Given the description of an element on the screen output the (x, y) to click on. 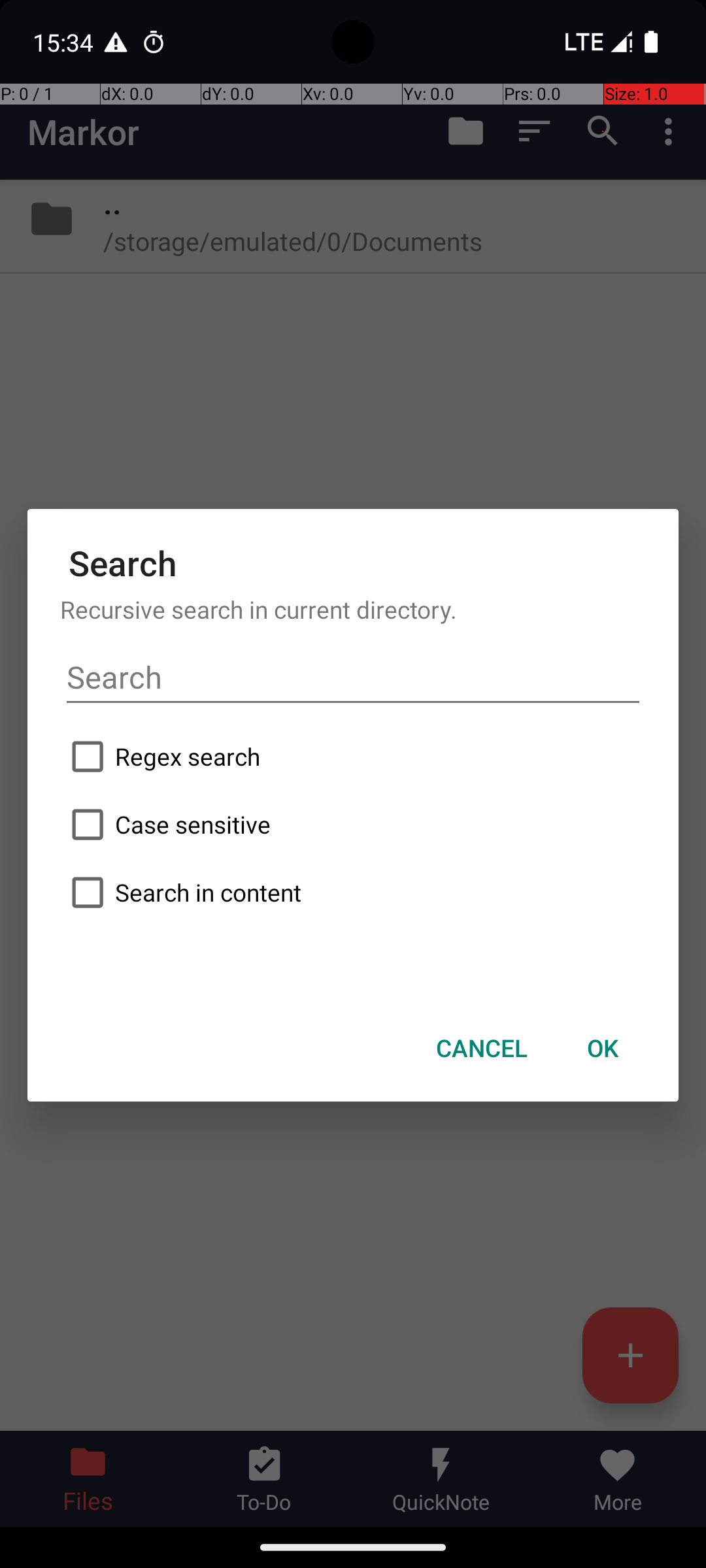
Recursive search in current directory. Element type: android.widget.TextView (352, 608)
Regex search Element type: android.widget.CheckBox (352, 756)
Case sensitive Element type: android.widget.CheckBox (352, 824)
Search in content Element type: android.widget.CheckBox (352, 892)
